Given the description of an element on the screen output the (x, y) to click on. 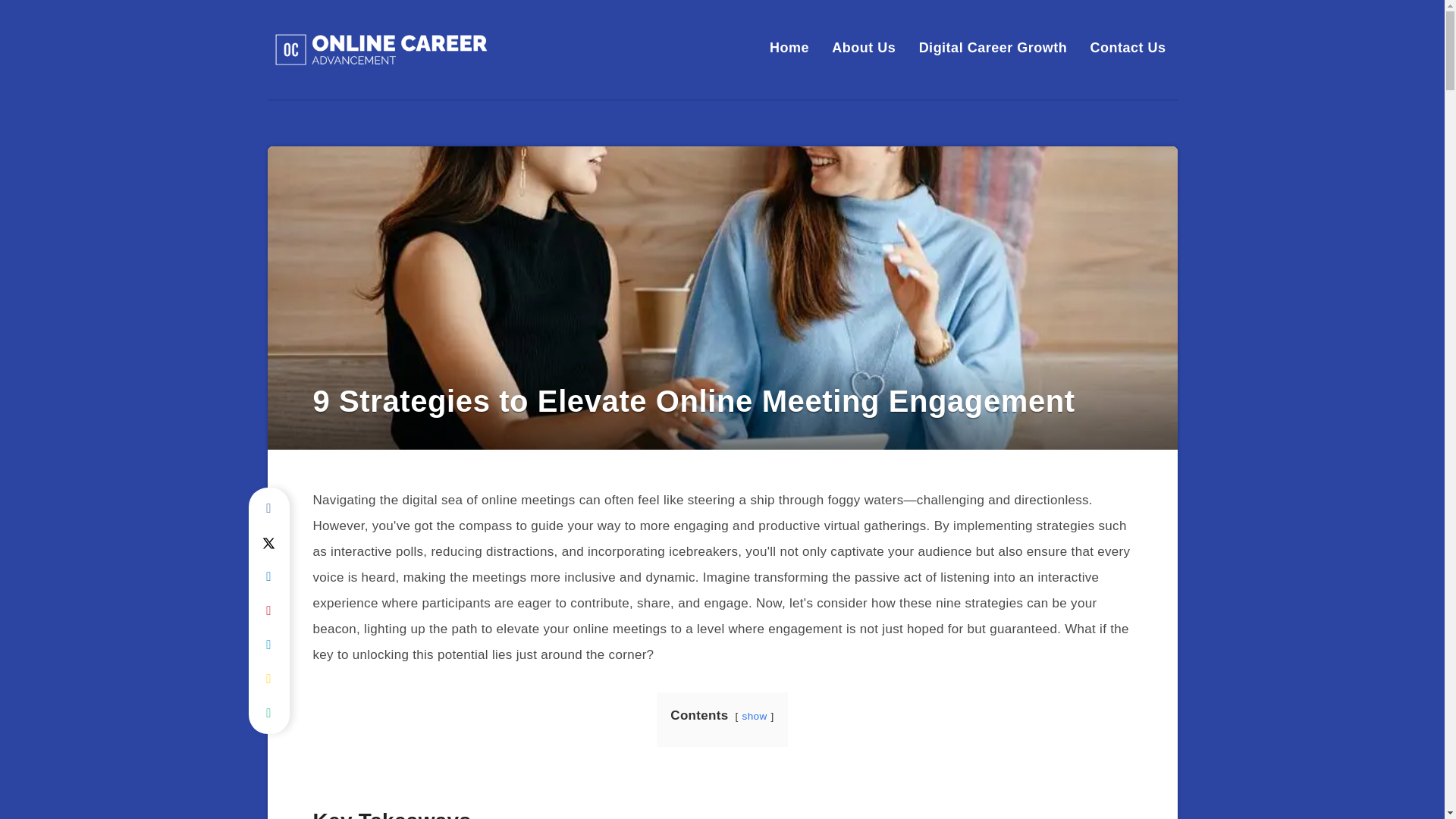
show (754, 715)
Home (789, 47)
Contact Us (1127, 47)
Digital Career Growth (992, 47)
About Us (863, 47)
